Given the description of an element on the screen output the (x, y) to click on. 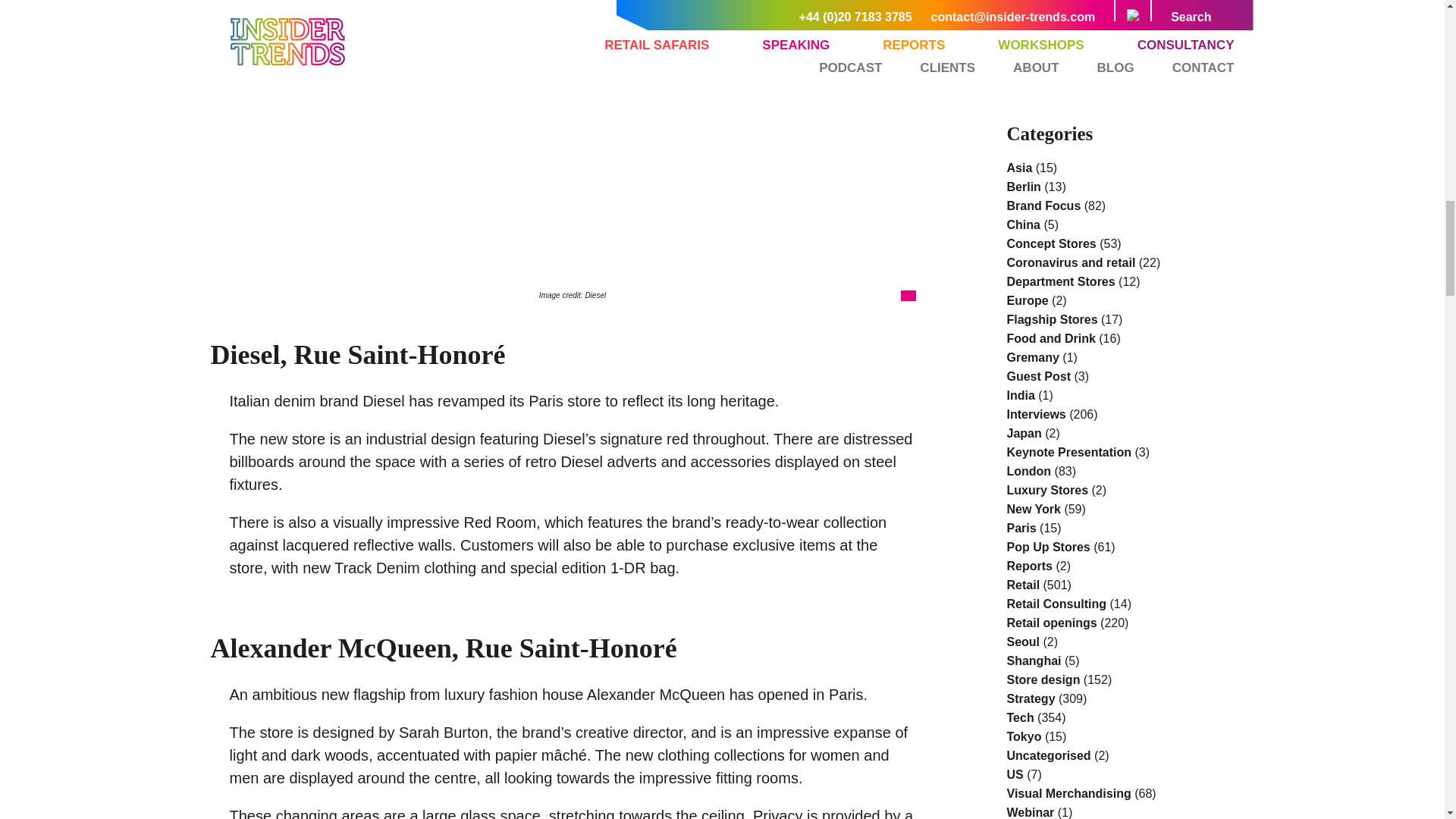
Yes, sign me up! (1111, 45)
Yes, sign me up! (1111, 45)
